Given the description of an element on the screen output the (x, y) to click on. 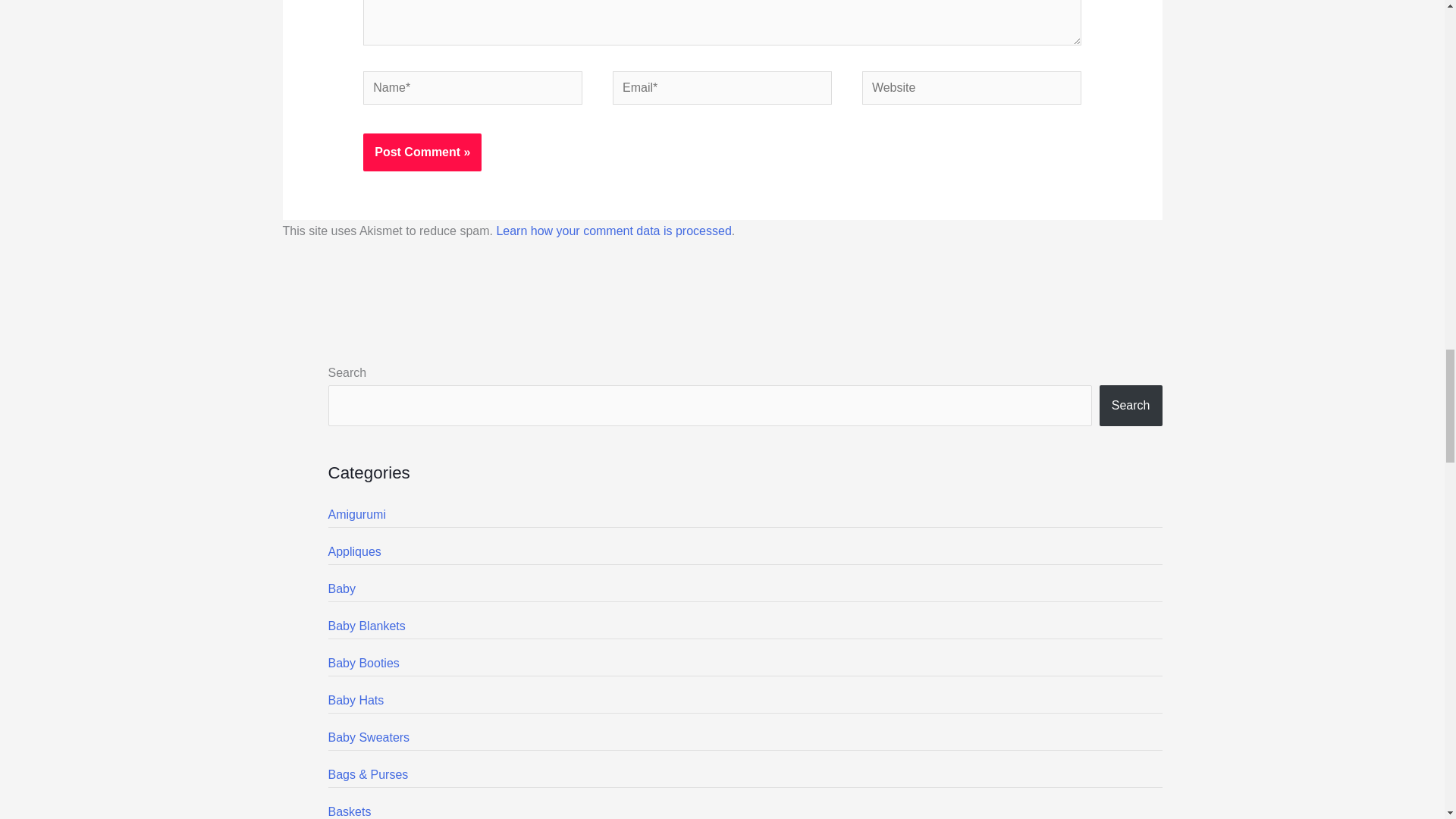
Learn how your comment data is processed (613, 230)
Baby (341, 588)
Search (1130, 404)
Baby Booties (362, 662)
Amigurumi (356, 513)
Baby Blankets (365, 625)
Appliques (353, 551)
